Given the description of an element on the screen output the (x, y) to click on. 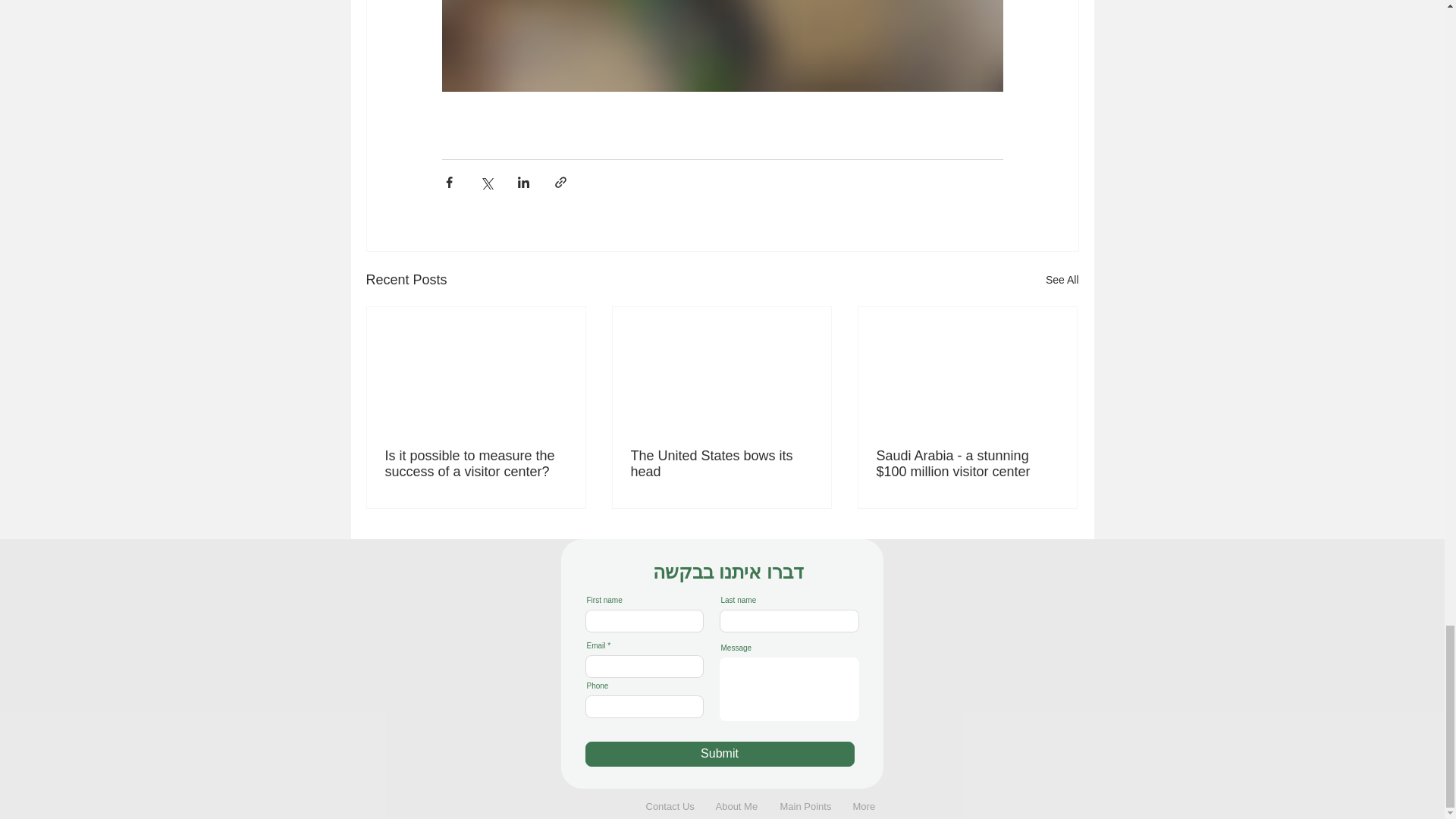
Is it possible to measure the success of a visitor center? (476, 463)
Submit (719, 754)
See All (1061, 280)
The United States bows its head (721, 463)
